Given the description of an element on the screen output the (x, y) to click on. 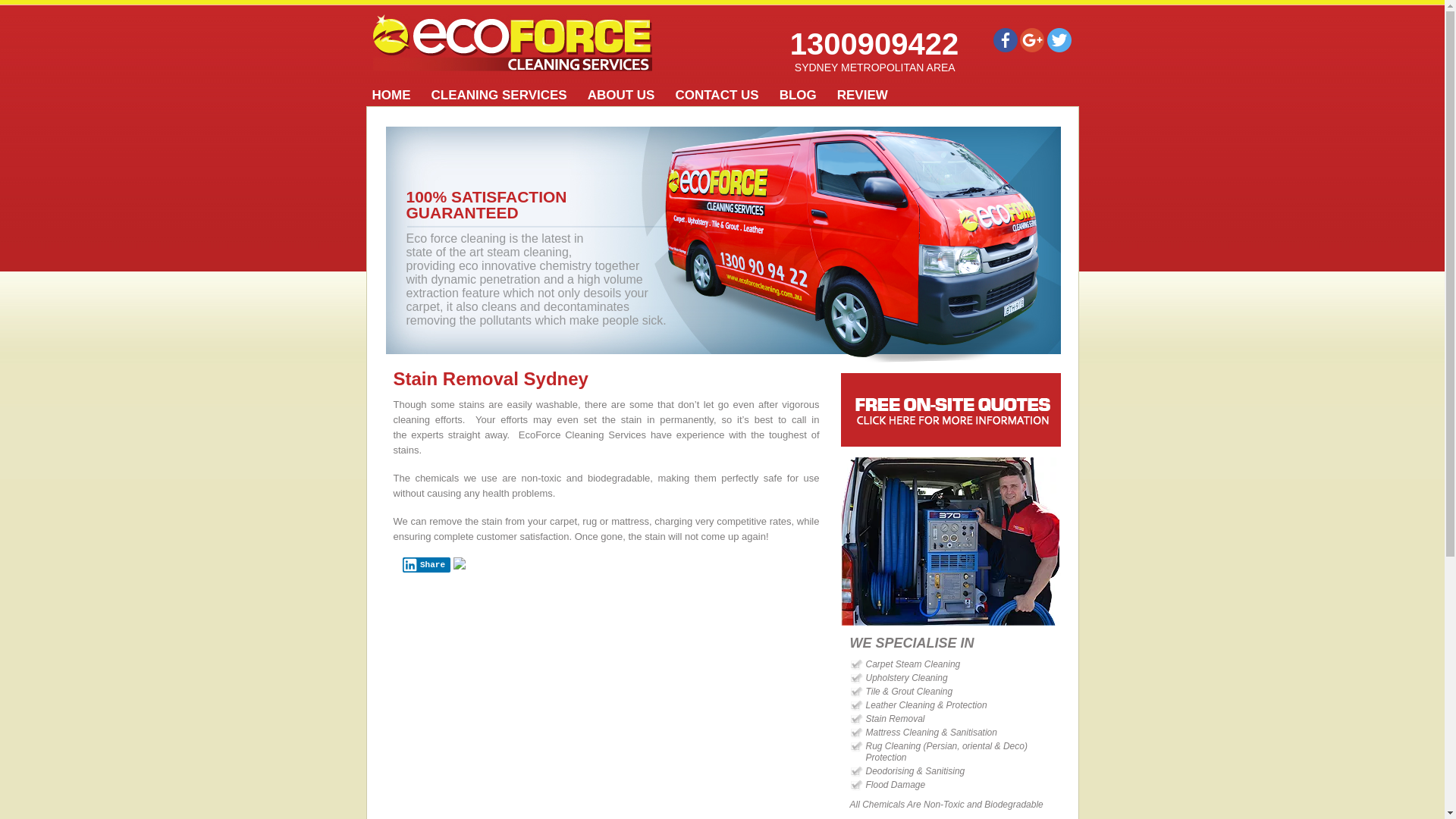
Stain Removal Element type: text (895, 718)
1300909422 Element type: text (874, 43)
CLEANING SERVICES Element type: text (502, 95)
CONTACT US Element type: text (720, 95)
REVIEW Element type: text (866, 95)
Carpet Steam Cleaning Element type: text (913, 664)
Rug Cleaning (Persian, oriental & Deco) Protection Element type: text (963, 751)
Tile & Grout Cleaning Element type: text (909, 691)
Leather Cleaning & Protection Element type: text (926, 705)
Flood Damage Element type: text (895, 784)
Deodorising & Sanitising Element type: text (915, 771)
ABOUT US Element type: text (625, 95)
Mattress Cleaning & Sanitisation Element type: text (931, 732)
Upholstery Cleaning Element type: text (906, 678)
Carpet Cleaning Services Sydney Element type: hover (512, 42)
BLOG Element type: text (802, 95)
Share Element type: text (425, 564)
HOME Element type: text (394, 95)
